Given the description of an element on the screen output the (x, y) to click on. 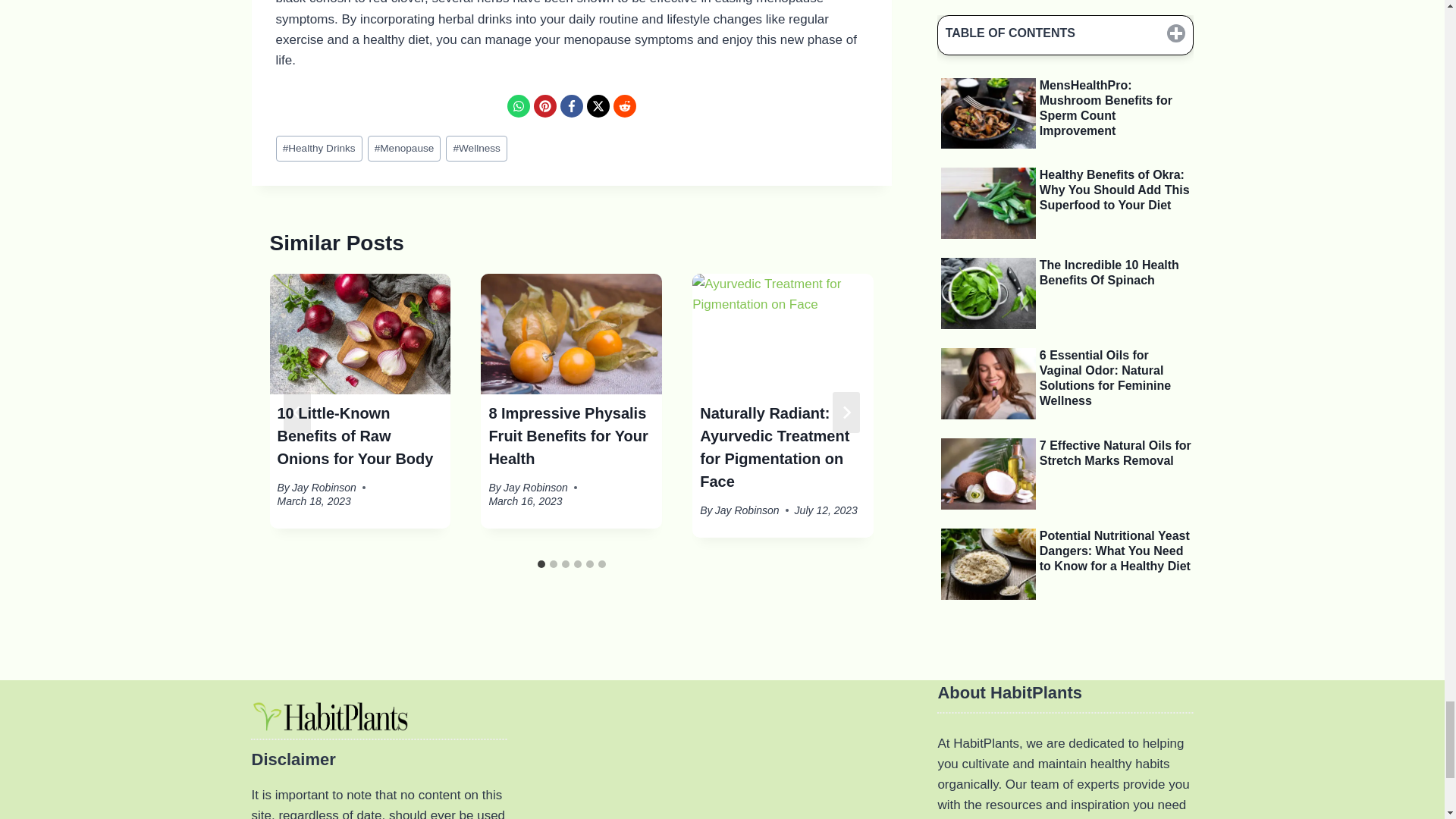
Healthy Drinks (319, 148)
Menopause (404, 148)
Wellness (475, 148)
